Given the description of an element on the screen output the (x, y) to click on. 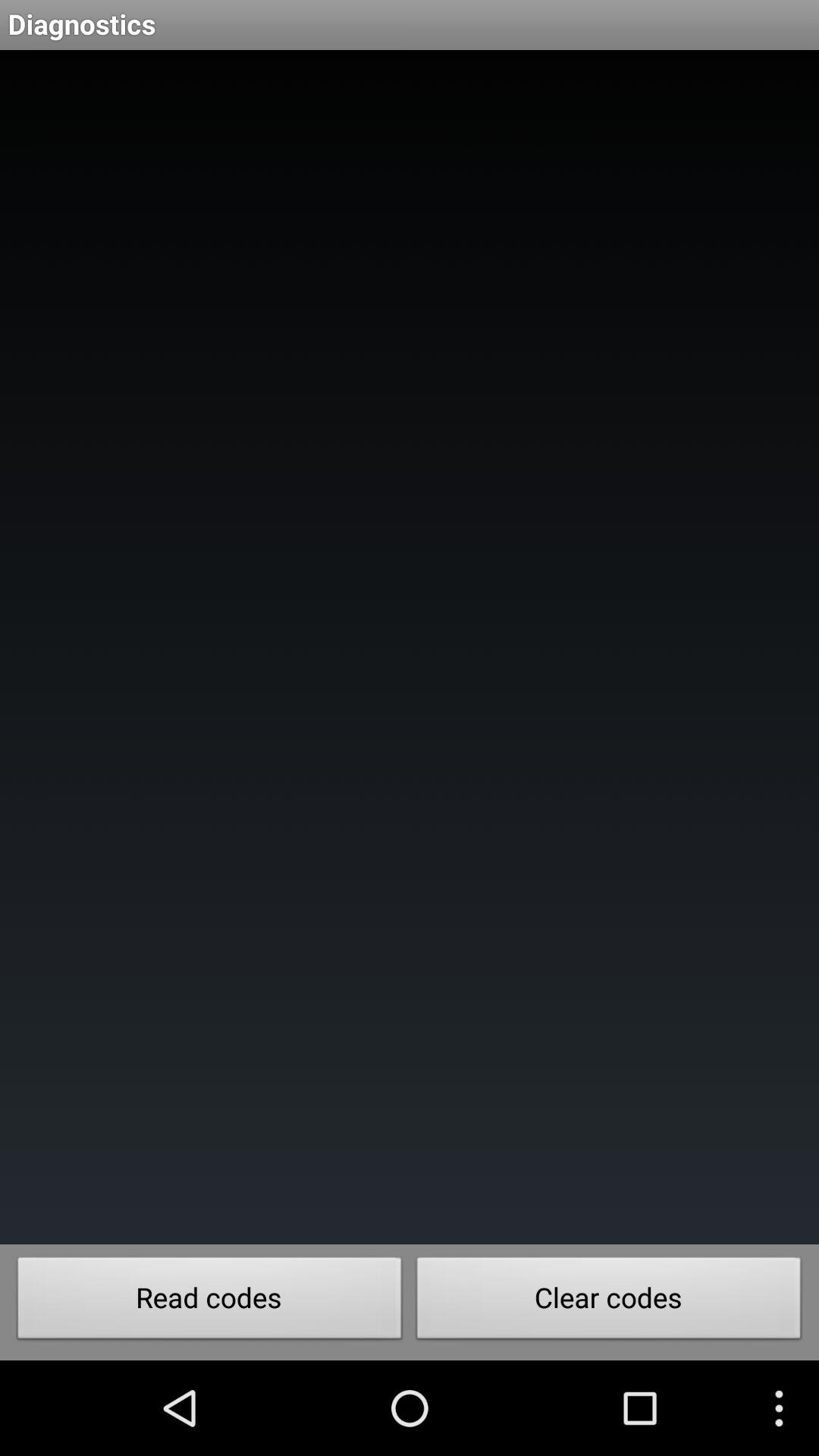
click icon at the center (409, 647)
